Given the description of an element on the screen output the (x, y) to click on. 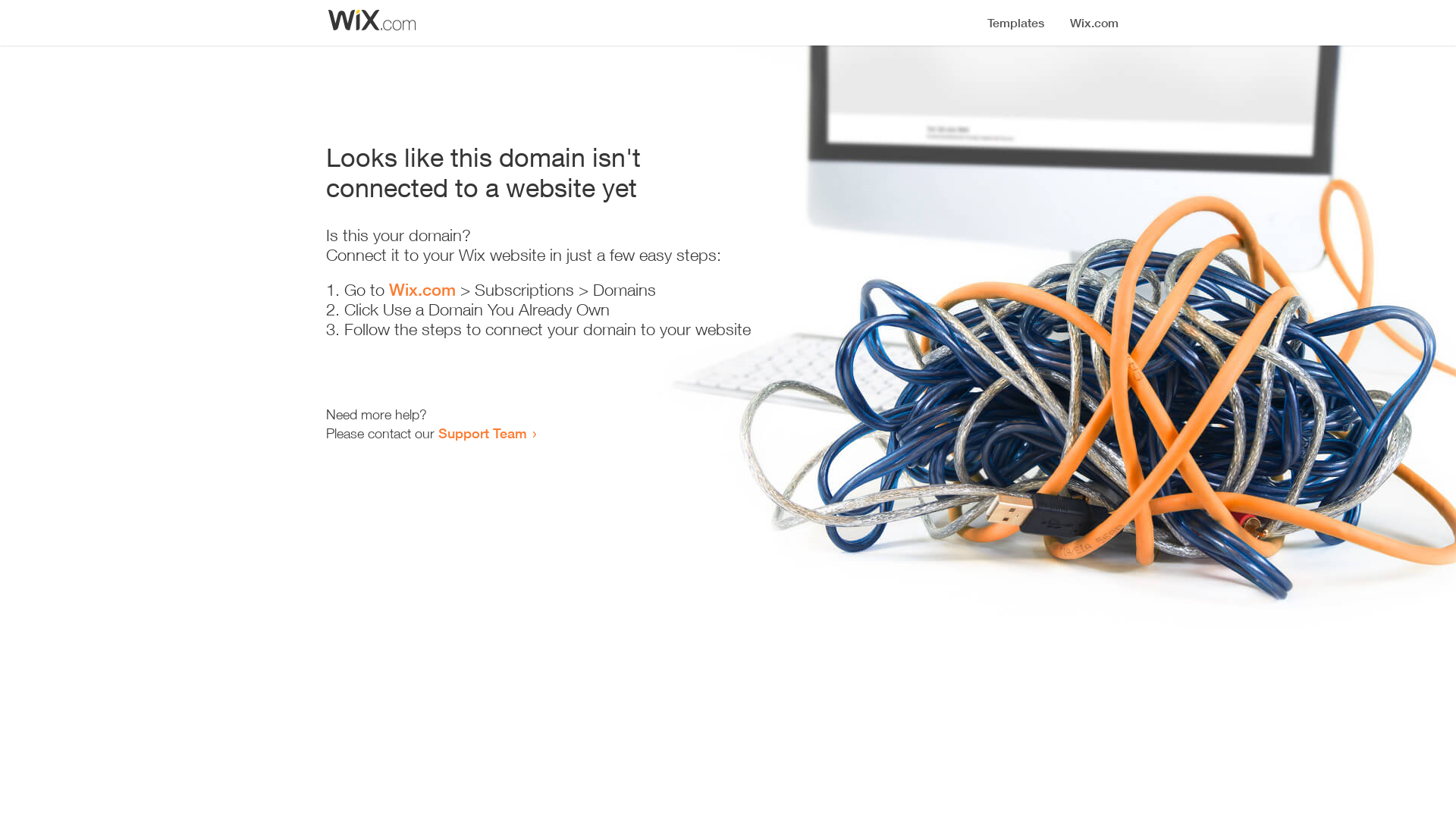
Support Team Element type: text (482, 432)
Wix.com Element type: text (422, 289)
